Given the description of an element on the screen output the (x, y) to click on. 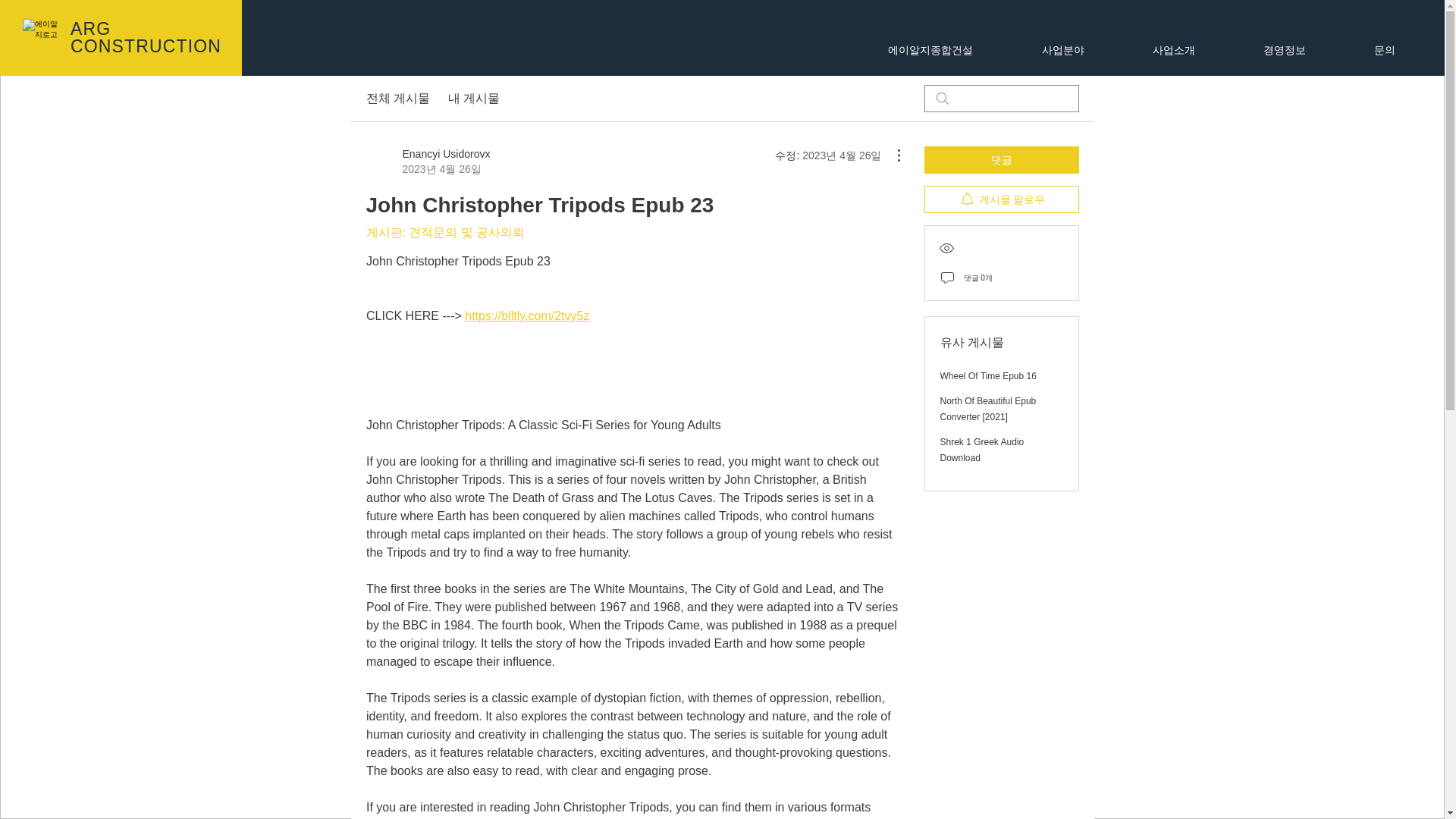
Wheel Of Time Epub 16 (988, 376)
ARG  (92, 28)
CONSTRUCTION (145, 46)
Shrek 1 Greek Audio Download (982, 449)
